Given the description of an element on the screen output the (x, y) to click on. 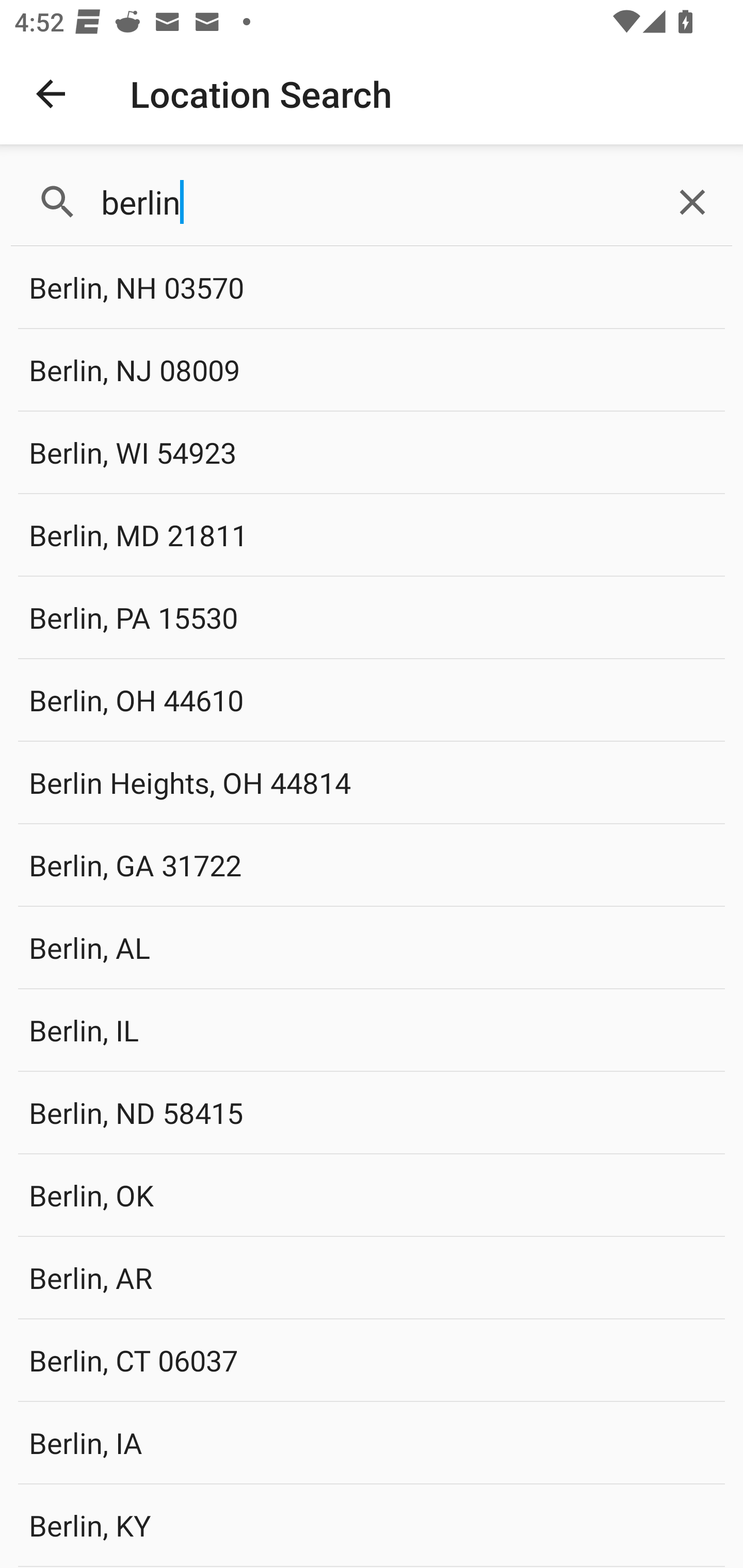
Navigate up (50, 93)
Clear query (692, 202)
berlin (371, 202)
Berlin, NH 03570 (371, 287)
Berlin, NJ 08009 (371, 369)
Berlin, WI 54923 (371, 451)
Berlin, MD 21811 (371, 534)
Berlin, PA 15530 (371, 616)
Berlin, OH 44610 (371, 699)
Berlin Heights, OH 44814 (371, 782)
Berlin, GA 31722 (371, 864)
Berlin, AL (371, 947)
Berlin, IL (371, 1029)
Berlin, ND 58415 (371, 1112)
Berlin, OK (371, 1194)
Berlin, AR (371, 1276)
Berlin, CT 06037 (371, 1359)
Berlin, IA (371, 1442)
Berlin, KY (371, 1524)
Berlin, MA 01503 (371, 1567)
